Given the description of an element on the screen output the (x, y) to click on. 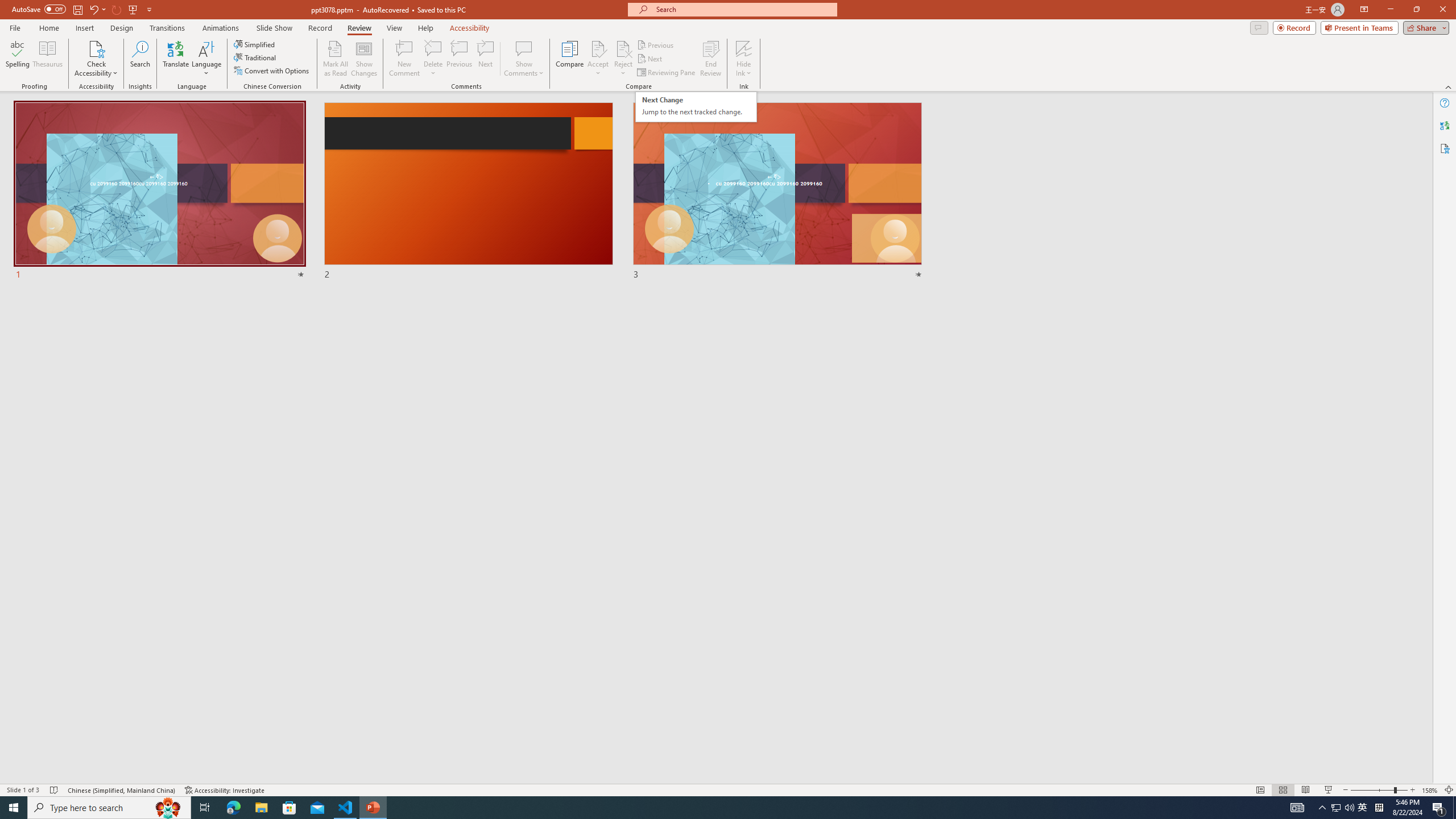
Show Changes (363, 58)
Accept (598, 58)
Previous (655, 44)
Convert with Options... (695, 106)
